Given the description of an element on the screen output the (x, y) to click on. 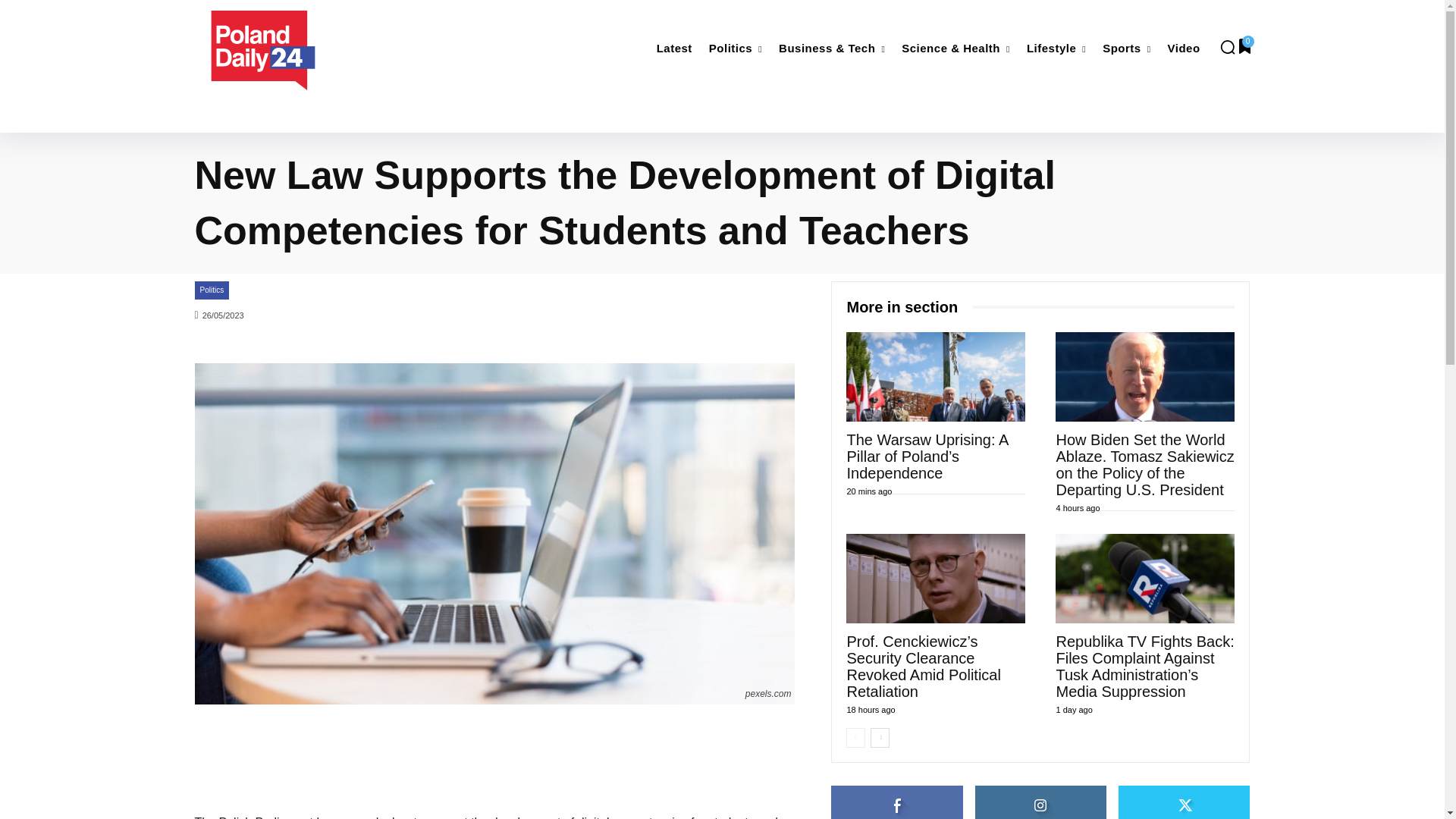
Politics (735, 48)
